Given the description of an element on the screen output the (x, y) to click on. 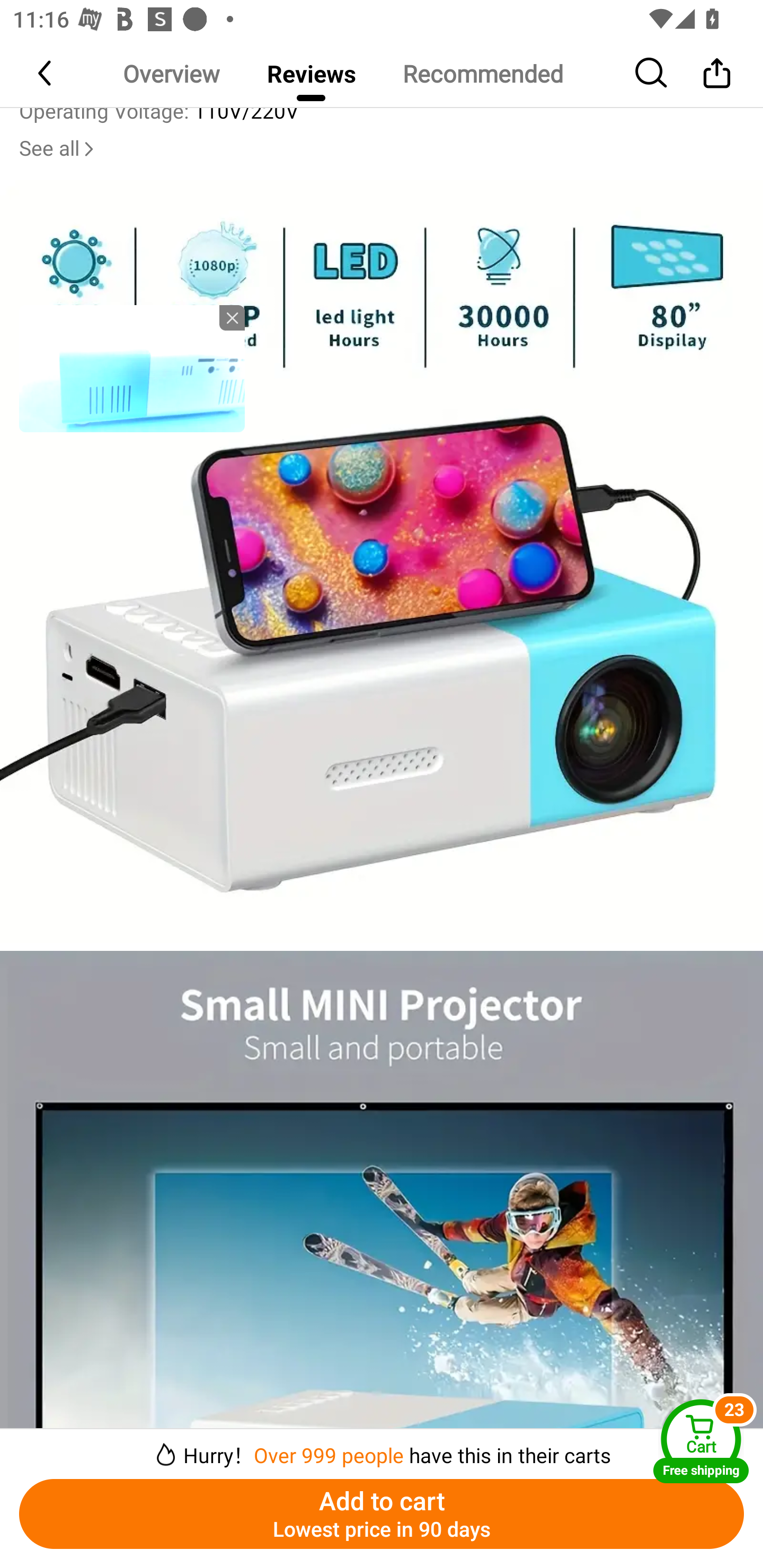
Overview (171, 72)
Reviews (311, 72)
Recommended (482, 72)
Back (46, 72)
Share (716, 72)
See all  (58, 148)
tronplayer_view (131, 368)
Cart Free shipping Cart (701, 1440)
￼￼Hurry！Over 999 people have this in their carts (381, 1448)
Add to cart Lowest price in 90 days (381, 1513)
